Given the description of an element on the screen output the (x, y) to click on. 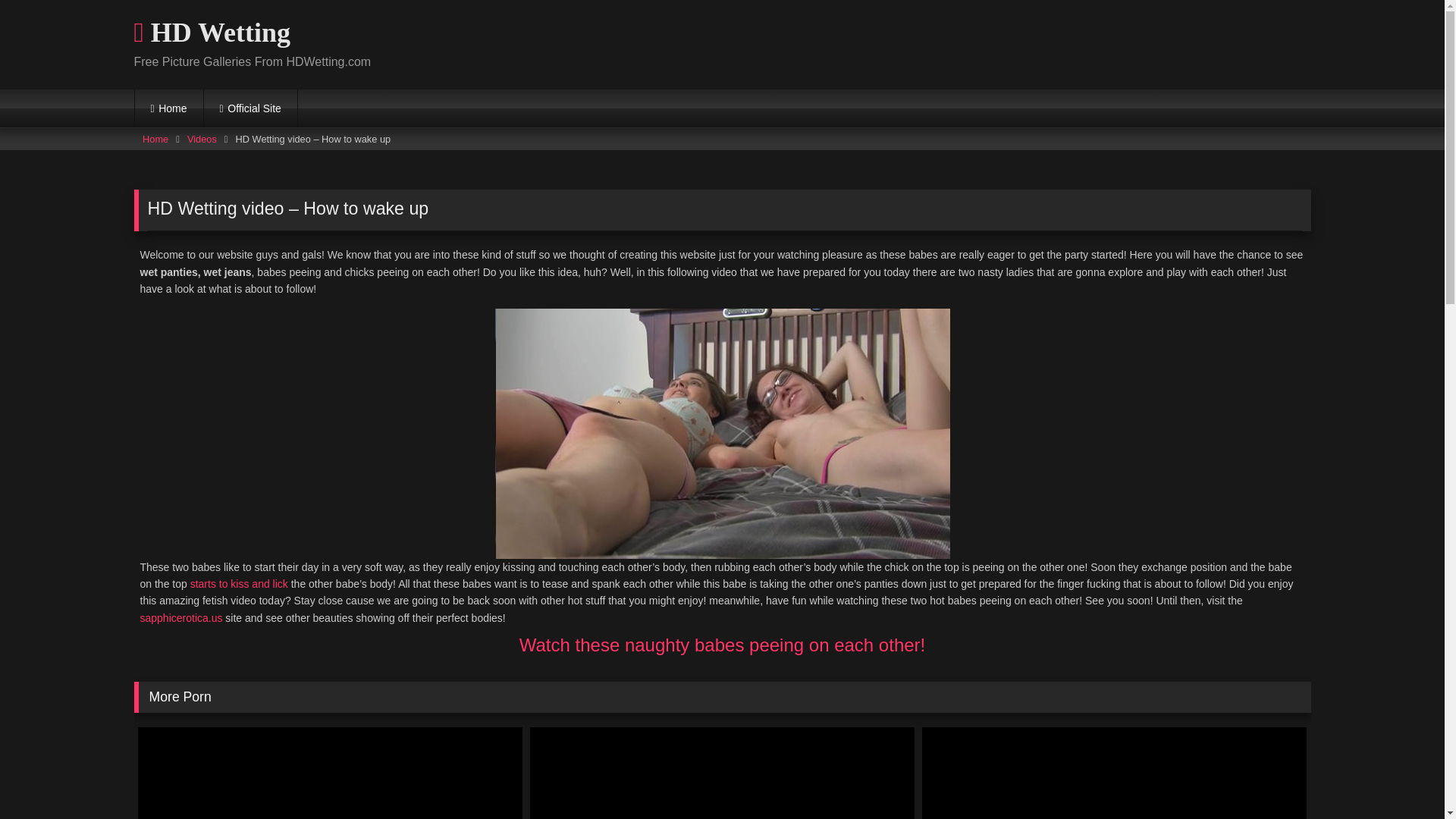
HDWetting video feat two naughty babes (330, 773)
Home (155, 138)
starts to kiss and lick (239, 583)
HDWetting video feat two naughty babes (330, 773)
Sexy babe wetting her green panties (1113, 773)
HD Wetting (211, 32)
Watch these naughty babes peeing on each other! (722, 644)
Official Site (250, 108)
Videos (201, 138)
Sexy babe wetting her green panties (1113, 773)
